Given the description of an element on the screen output the (x, y) to click on. 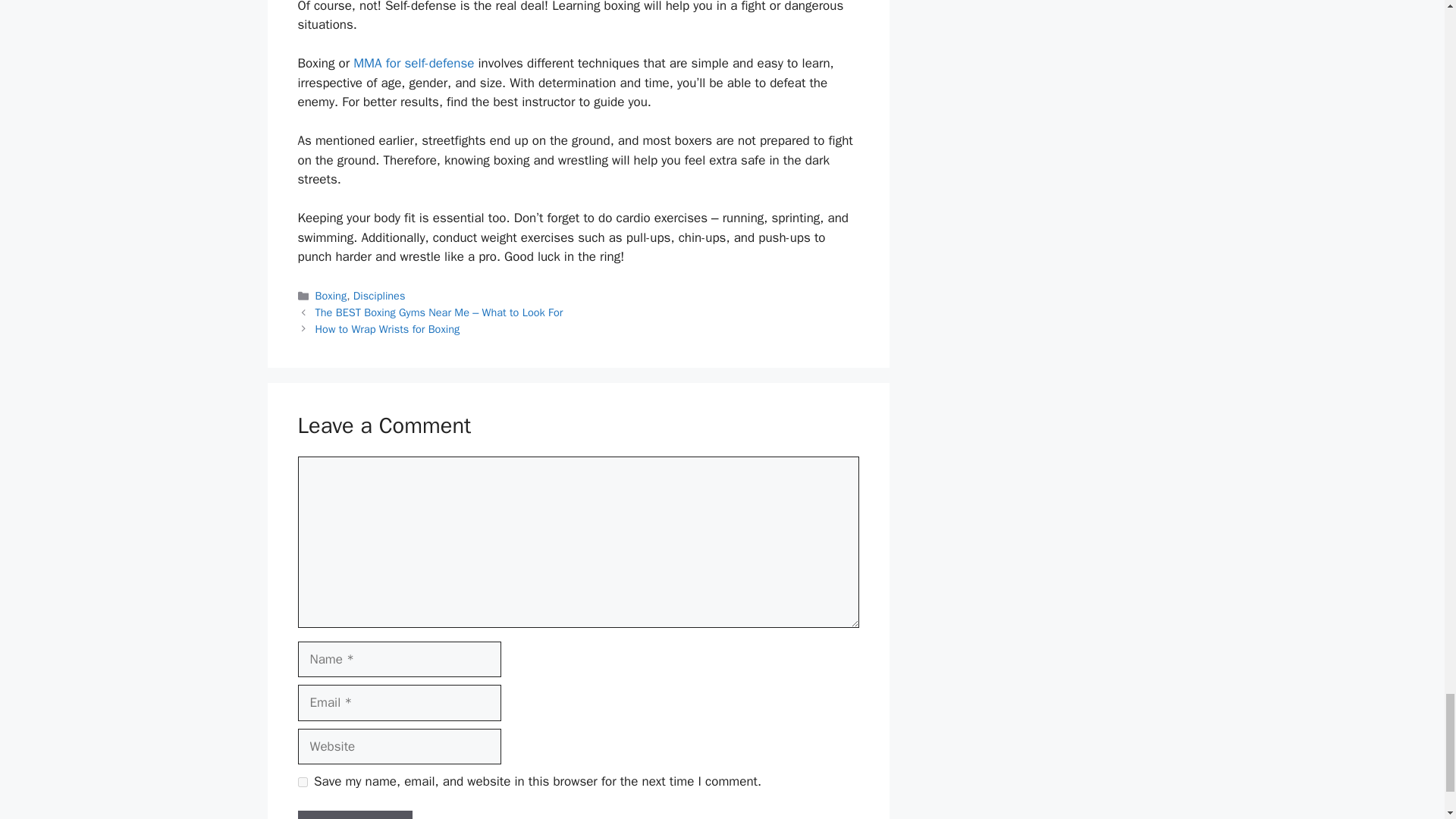
Next (387, 328)
MMA for self-defense (413, 63)
Previous (439, 312)
Post Comment (354, 814)
How to Wrap Wrists for Boxing (387, 328)
Post Comment (354, 814)
Disciplines (379, 295)
Boxing (331, 295)
yes (302, 782)
